Given the description of an element on the screen output the (x, y) to click on. 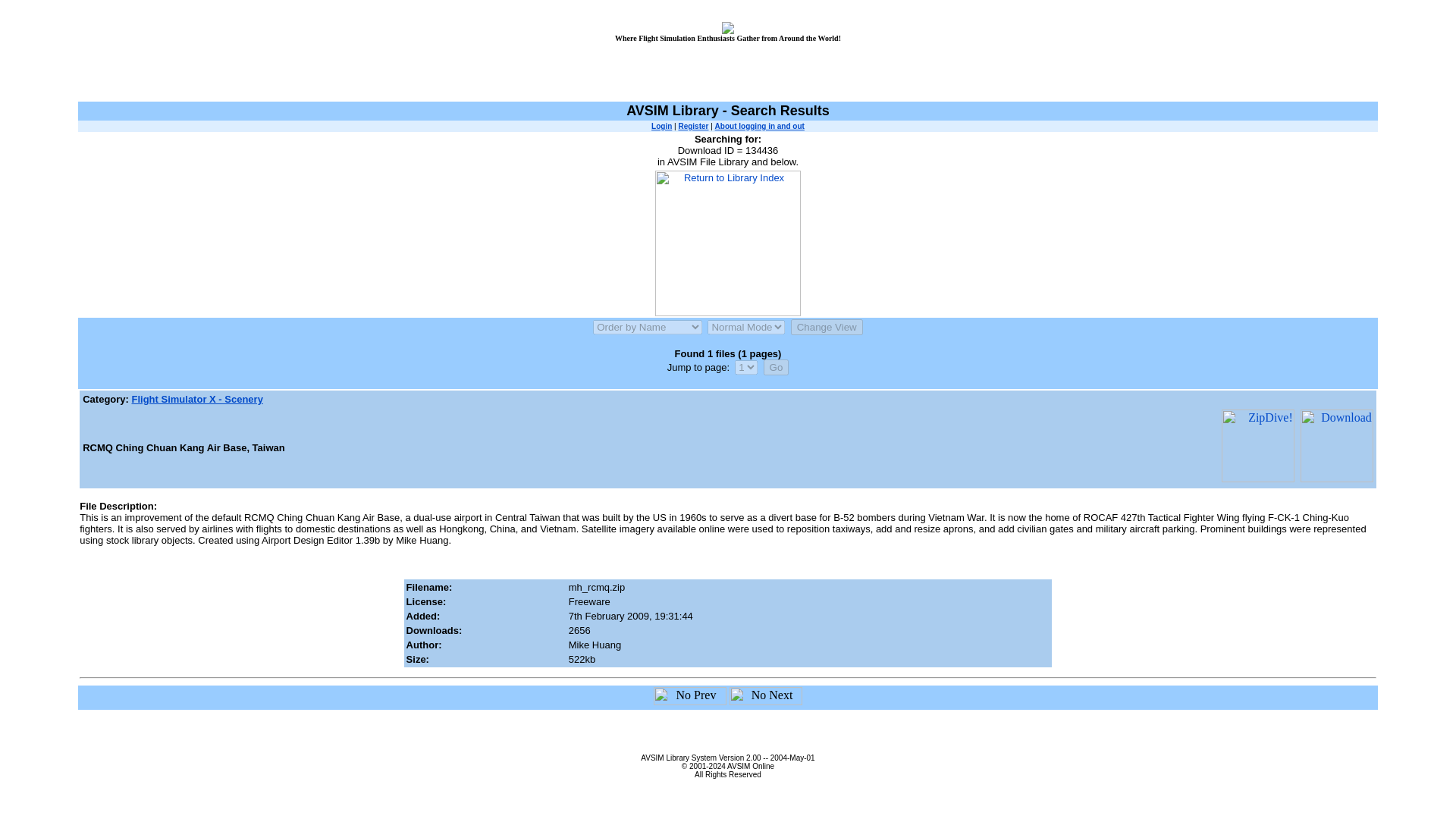
Go (775, 367)
Change View (826, 326)
Register (692, 126)
Go (775, 367)
Flight Simulator X - Scenery (197, 398)
About logging in and out (759, 126)
Login (660, 126)
Change View (826, 326)
